Given the description of an element on the screen output the (x, y) to click on. 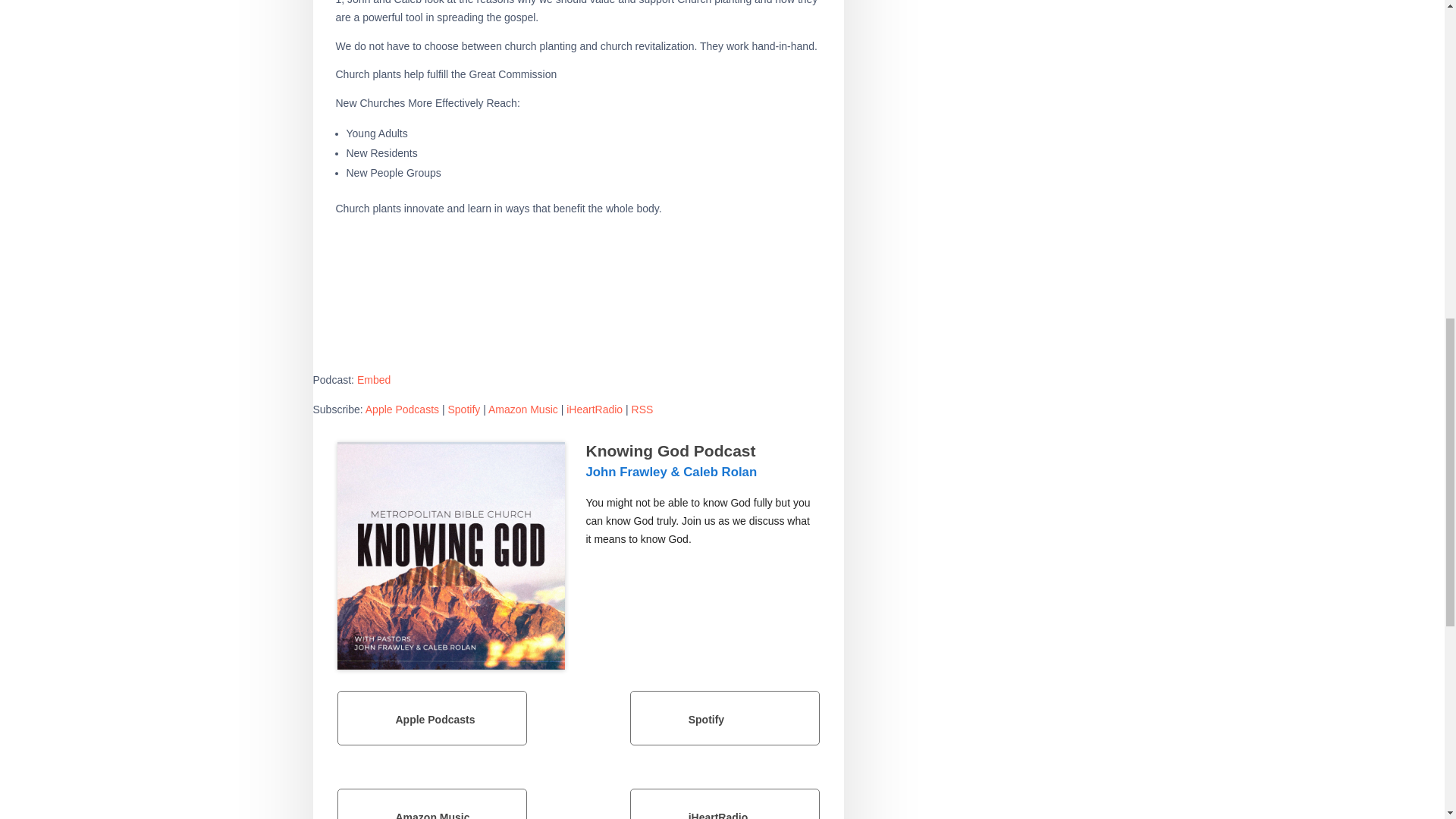
iHeartRadio (594, 409)
Subscribe on Spotify (463, 409)
Subscribe on Apple Podcasts (402, 409)
Subscribe on Amazon Music (522, 409)
Blubrry Podcast Player (578, 303)
Subscribe on iHeartRadio (724, 803)
Apple Podcasts (402, 409)
Subscribe on iHeartRadio (594, 409)
Subscribe on Apple Podcasts (430, 718)
Subscribe via RSS (642, 409)
Spotify (724, 718)
Spotify (463, 409)
Embed (373, 379)
Apple Podcasts (430, 718)
Knowing God Podcast (450, 555)
